Given the description of an element on the screen output the (x, y) to click on. 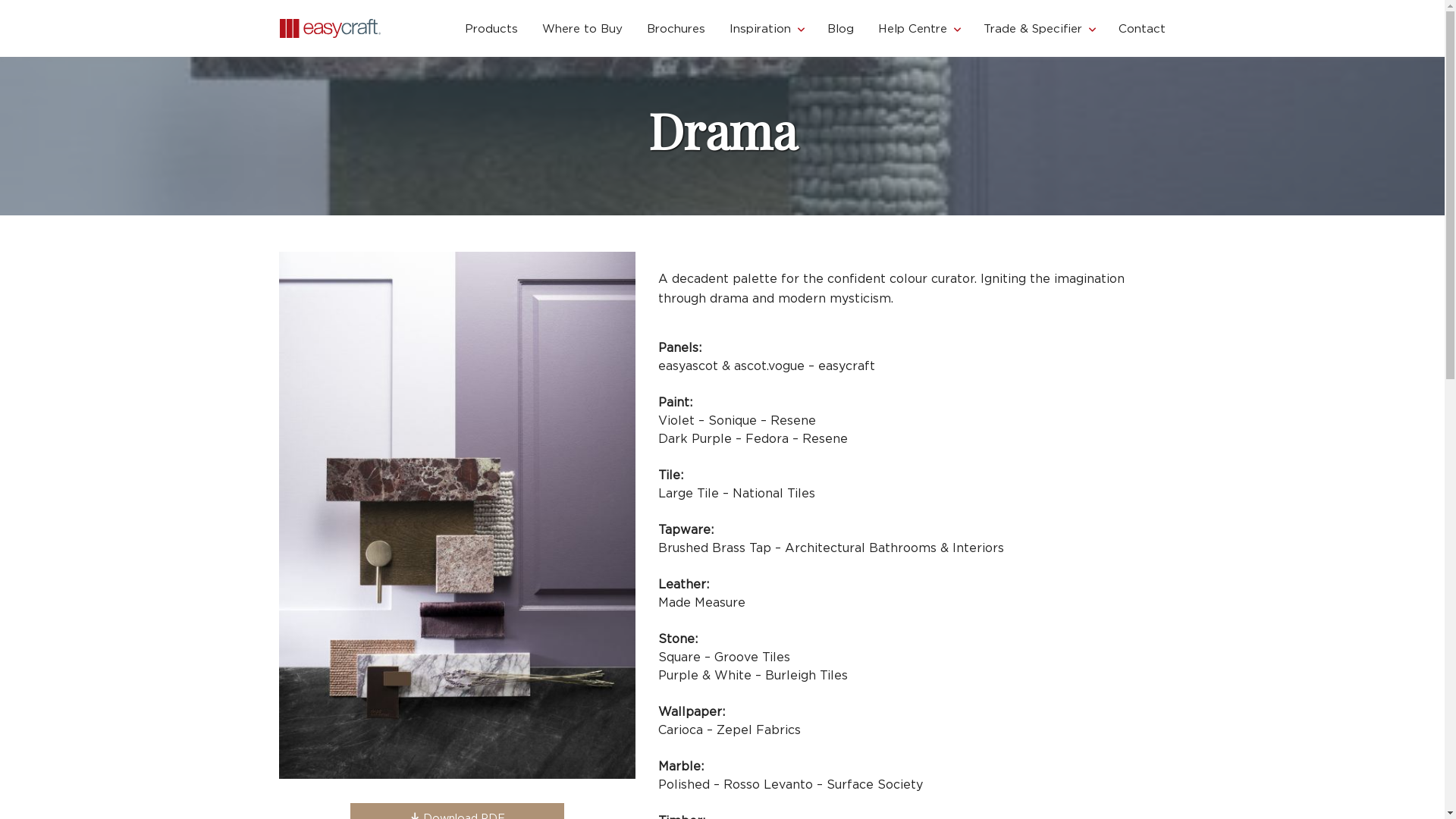
Trade & Specifier Element type: text (1037, 28)
Where to Buy Element type: text (581, 28)
Inspiration Element type: text (766, 28)
Help Centre Element type: text (918, 28)
Products Element type: text (490, 28)
Contact Element type: text (1140, 28)
Blog Element type: text (839, 28)
Brochures Element type: text (674, 28)
